Given the description of an element on the screen output the (x, y) to click on. 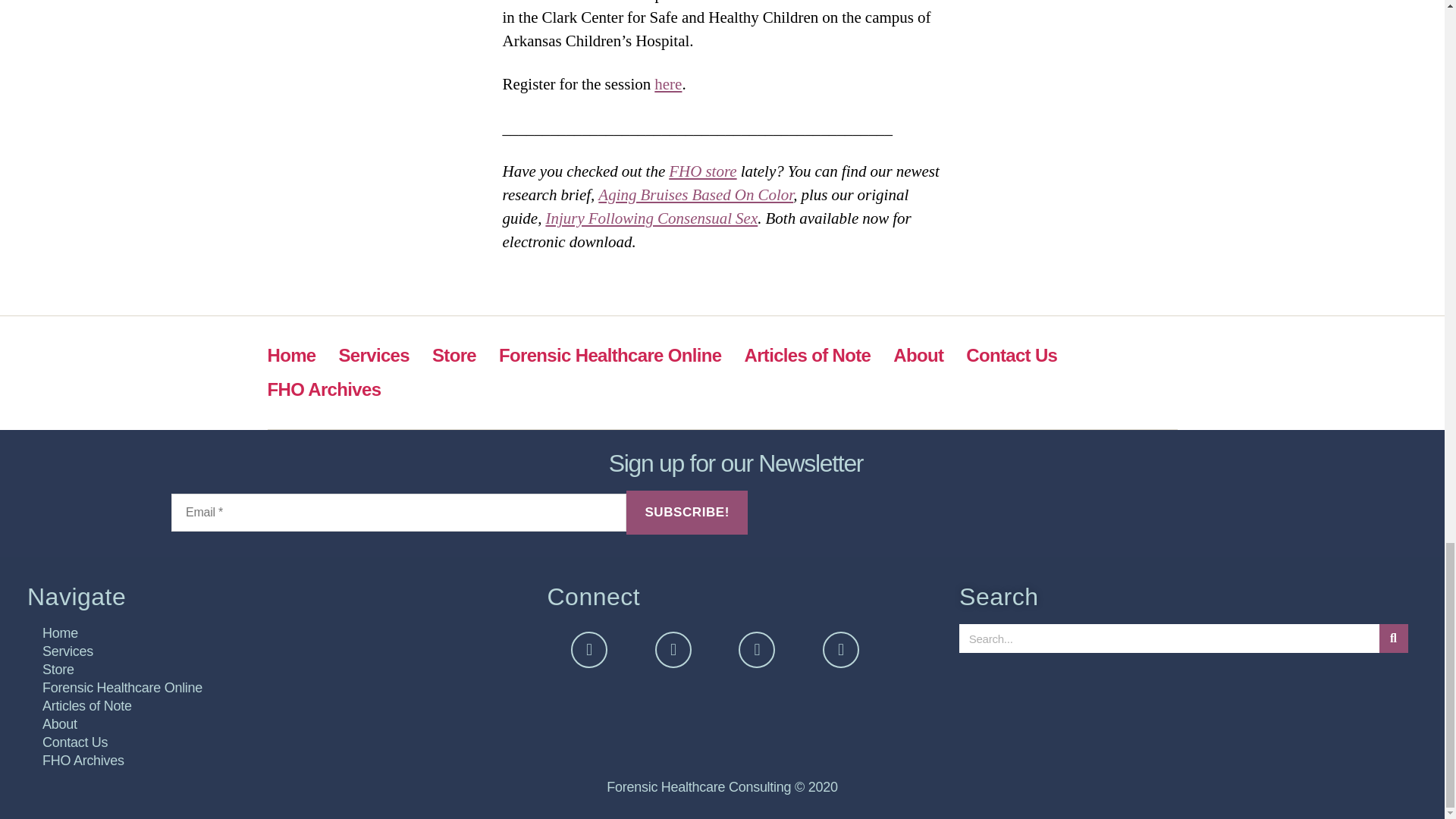
Aging Bruises Based On Color (695, 195)
Email (398, 512)
Home (279, 633)
FHO Archives (323, 389)
FHO store (702, 171)
Store (454, 354)
Contact Us (1011, 354)
Home (290, 354)
here (667, 84)
About (918, 354)
